Given the description of an element on the screen output the (x, y) to click on. 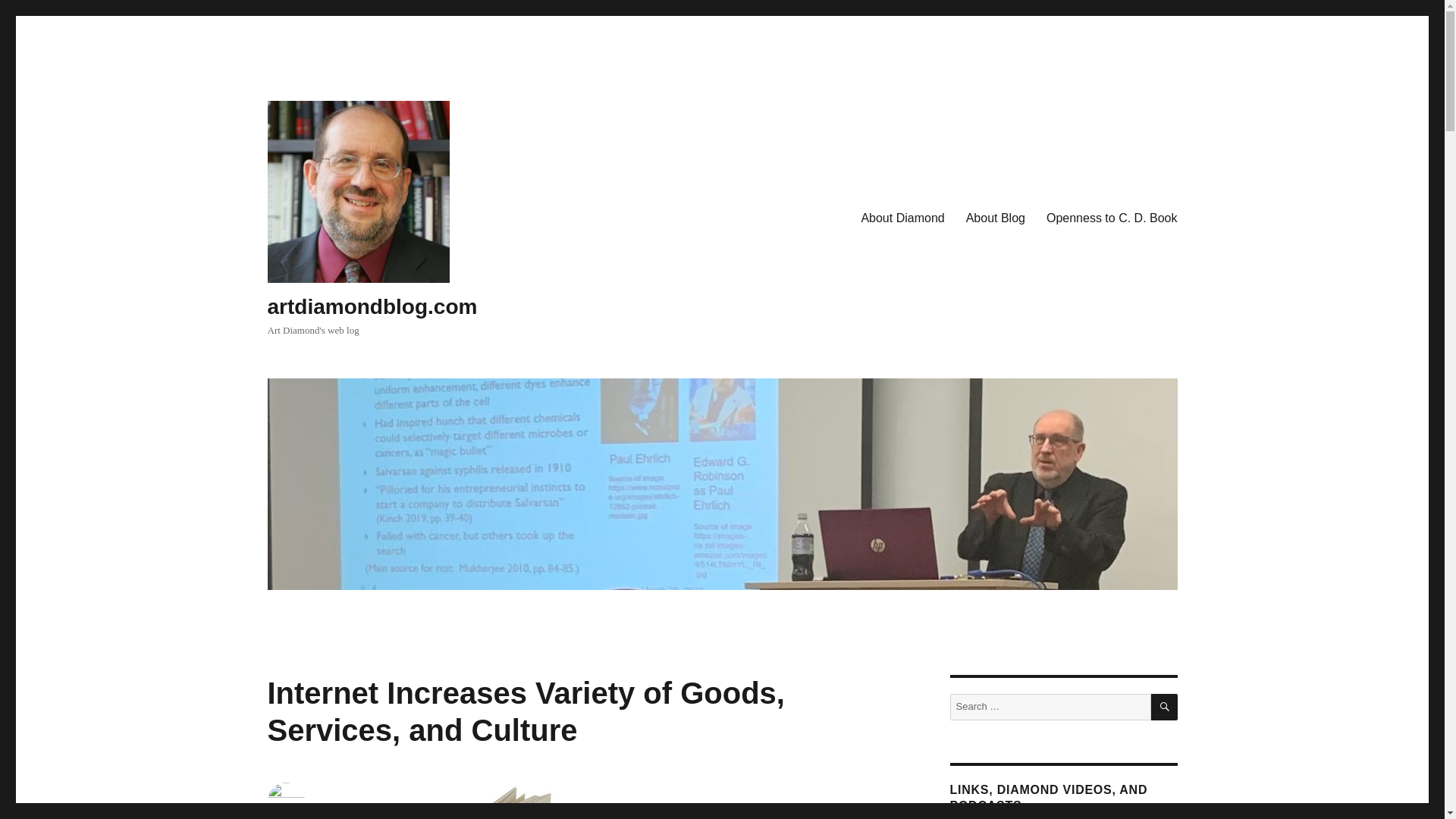
LongTailBK.jpg (506, 801)
Openness to C. D. Book (1111, 218)
SEARCH (1164, 706)
About Diamond (902, 218)
About Blog (995, 218)
artdiamondblog.com (371, 306)
